Given the description of an element on the screen output the (x, y) to click on. 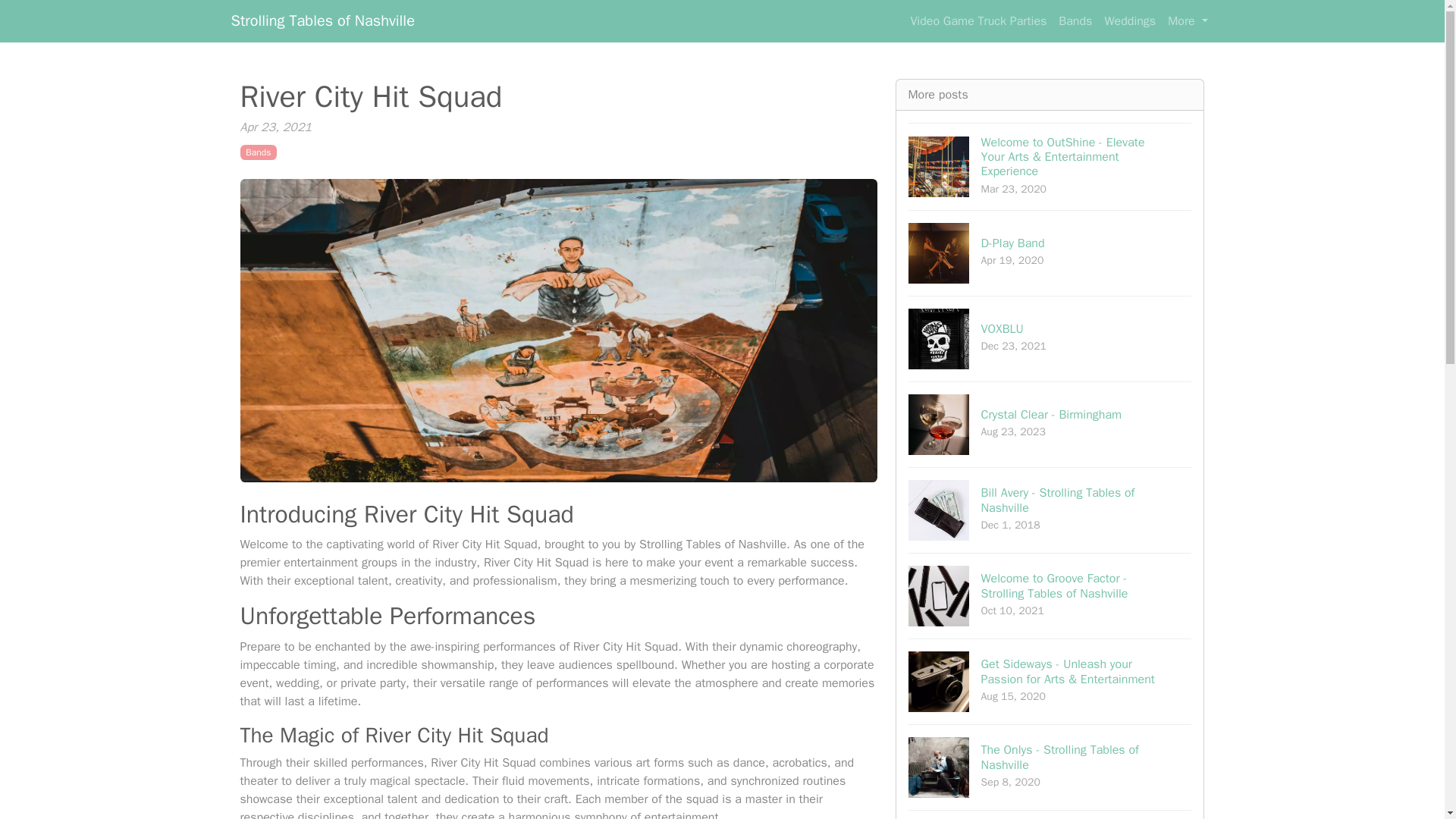
Video Game Truck Parties (1050, 814)
Strolling Tables of Nashville (978, 20)
Bands (321, 20)
More (1050, 423)
Bands (1074, 20)
Weddings (1186, 20)
